Given the description of an element on the screen output the (x, y) to click on. 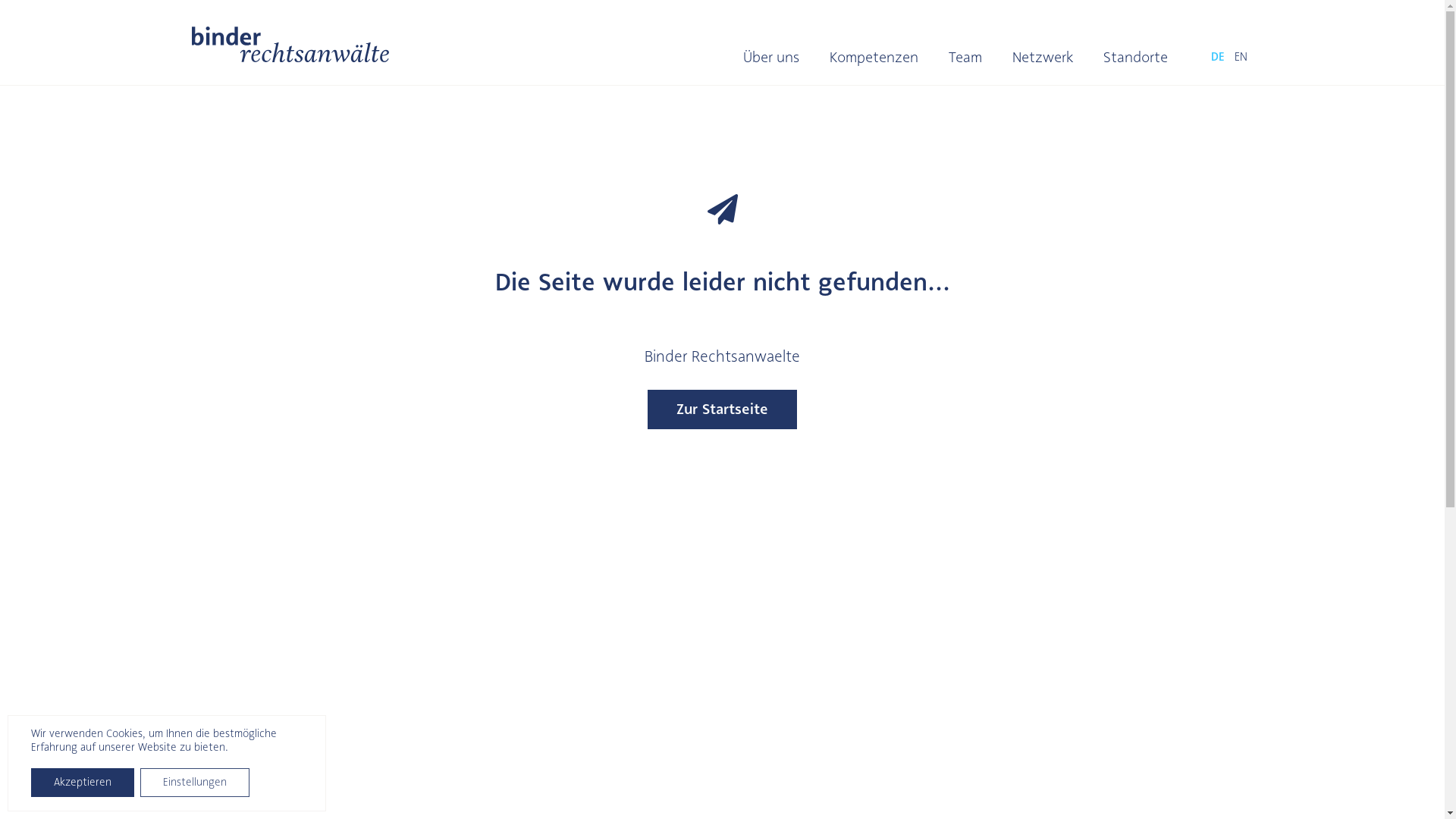
DE Element type: text (1217, 64)
Standorte Element type: text (1135, 64)
Akzeptieren Element type: text (82, 782)
EN Element type: text (1240, 64)
Zur Startseite Element type: text (722, 408)
Einstellungen Element type: text (194, 782)
Team Element type: text (965, 64)
Kompetenzen Element type: text (873, 64)
Netzwerk Element type: text (1042, 64)
